Given the description of an element on the screen output the (x, y) to click on. 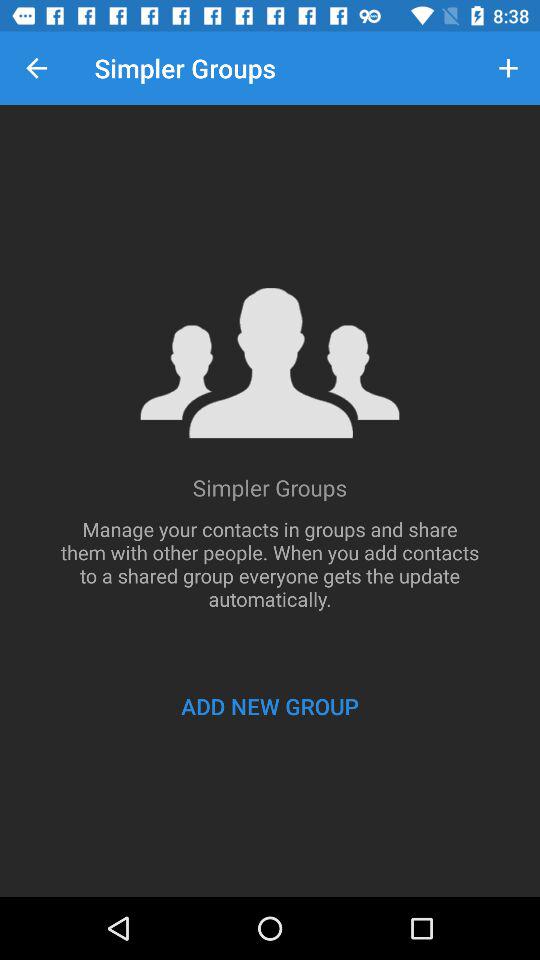
launch icon at the top right corner (508, 67)
